Given the description of an element on the screen output the (x, y) to click on. 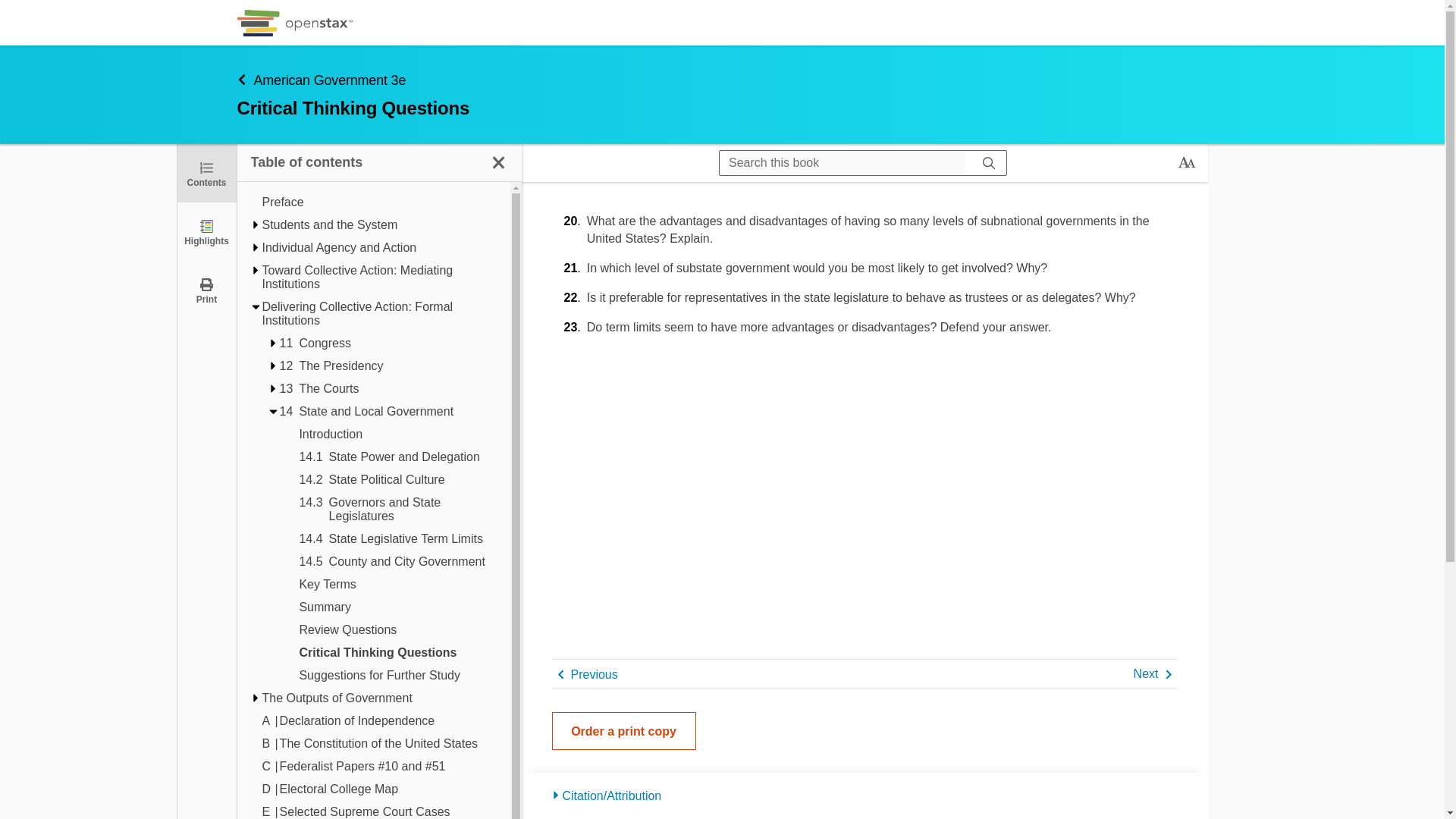
American Government 3e (635, 78)
Search (16, 12)
Search (989, 162)
Highlights (206, 231)
Print (206, 290)
American Government 3e (338, 119)
Preface (379, 202)
Contents (206, 173)
